Given the description of an element on the screen output the (x, y) to click on. 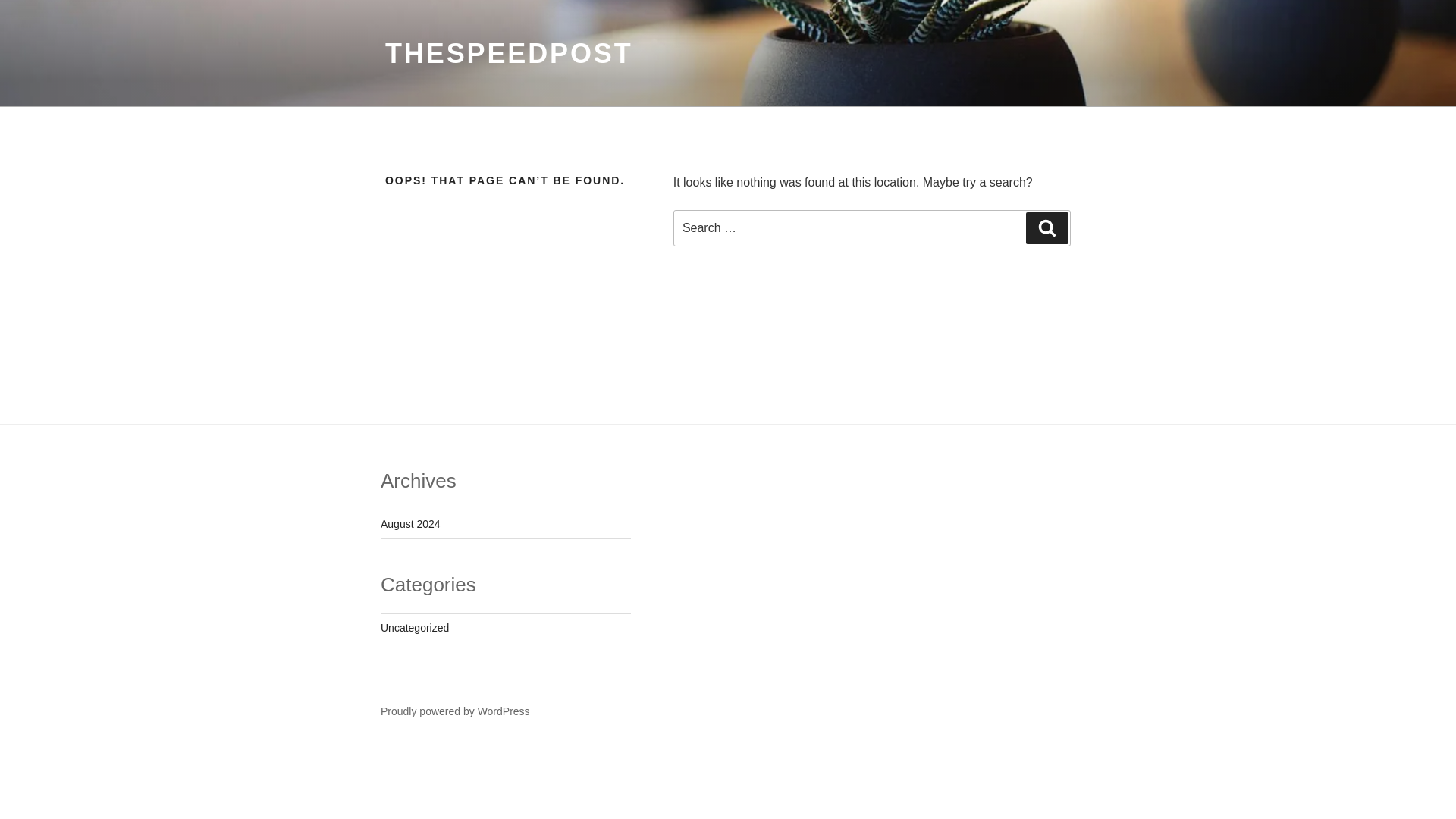
Proudly powered by WordPress (454, 711)
August 2024 (410, 523)
THESPEEDPOST (509, 52)
Uncategorized (414, 627)
Search (1047, 228)
